Given the description of an element on the screen output the (x, y) to click on. 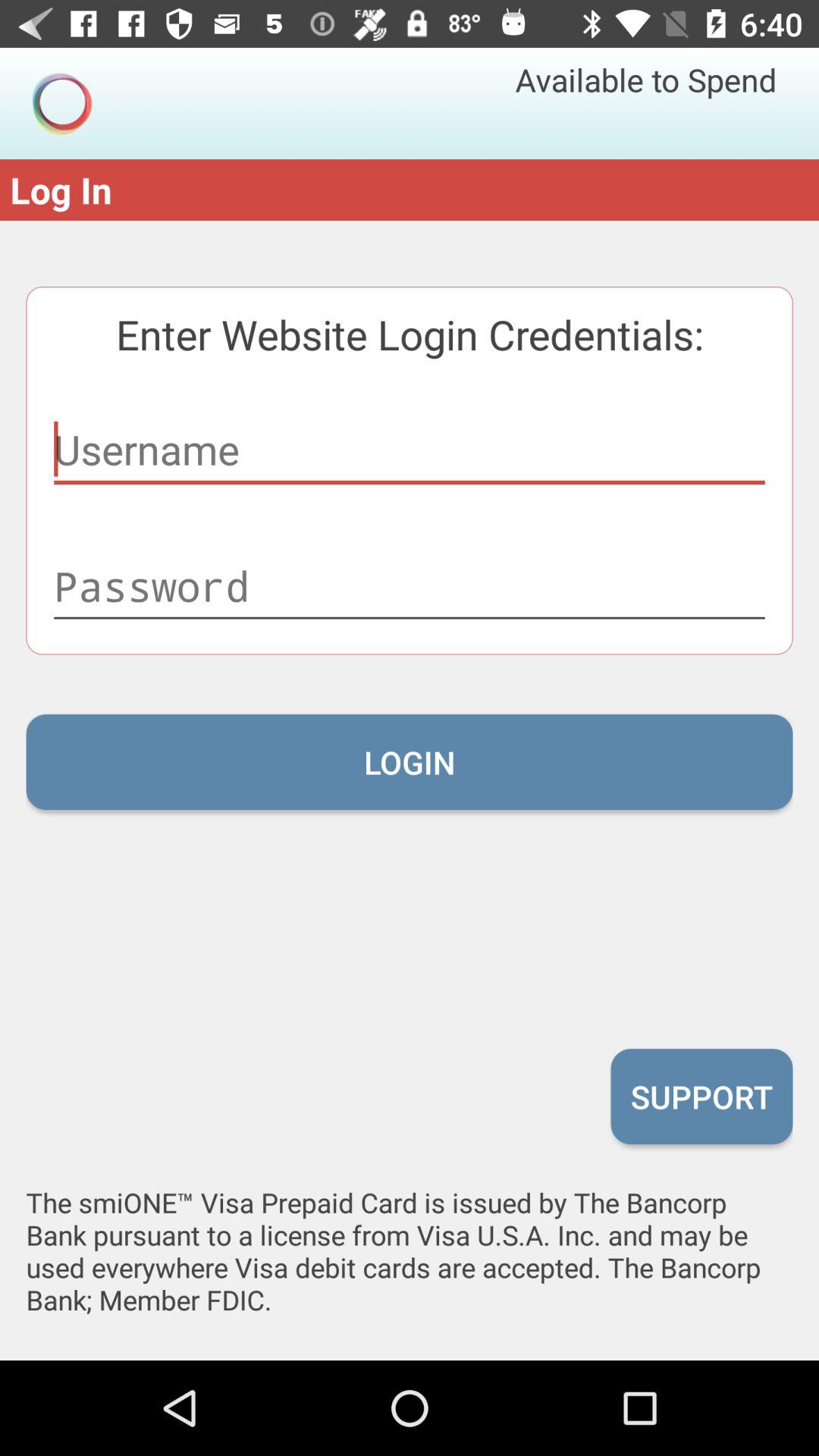
select icon at the bottom right corner (701, 1096)
